Given the description of an element on the screen output the (x, y) to click on. 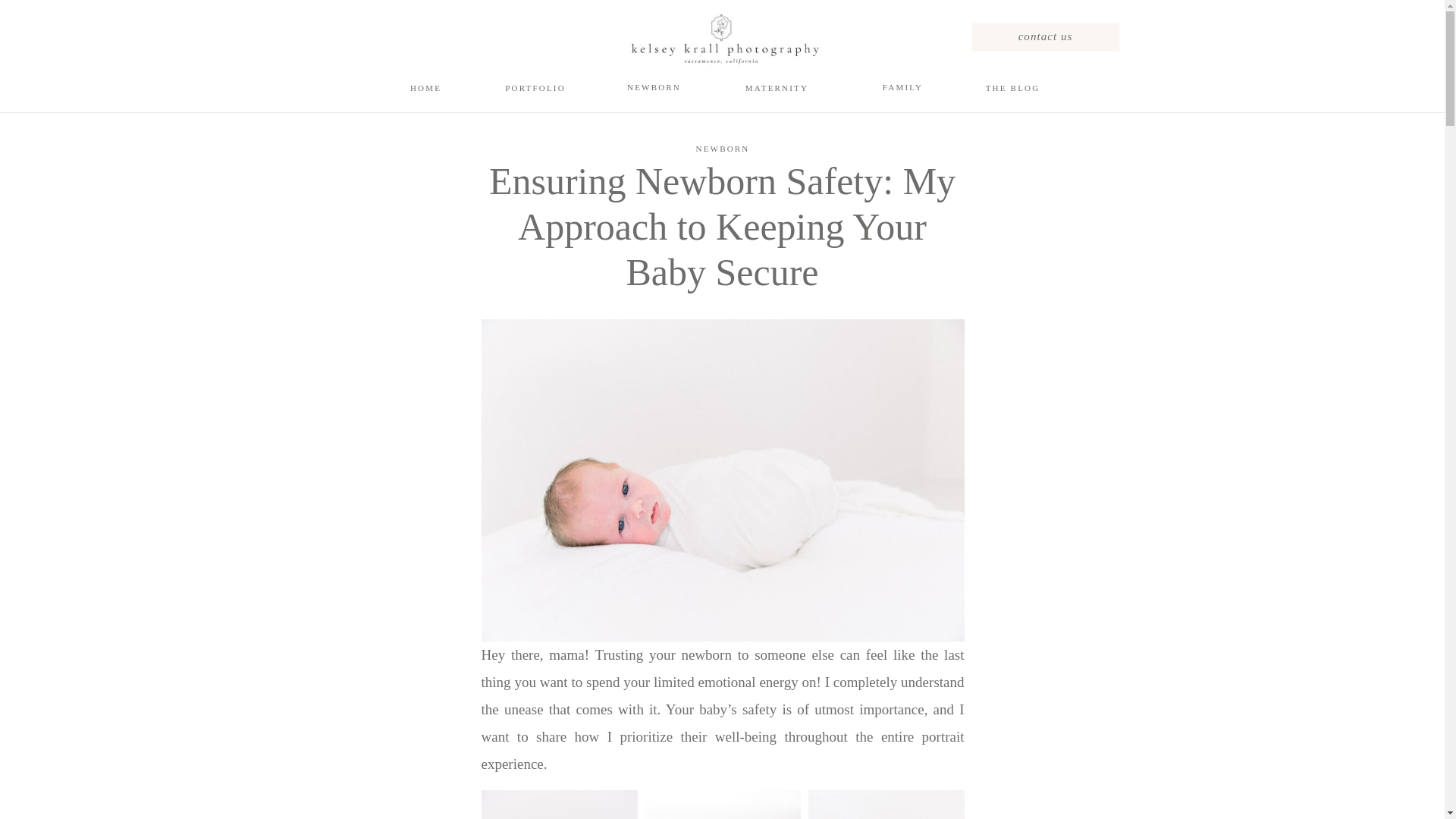
MATERNITY (776, 86)
THE BLOG (1011, 86)
contact us (1045, 34)
NEWBORN (722, 148)
PORTFOLIO (535, 86)
FAMILY (901, 85)
HOME (425, 86)
NEWBORN (653, 85)
